Given the description of an element on the screen output the (x, y) to click on. 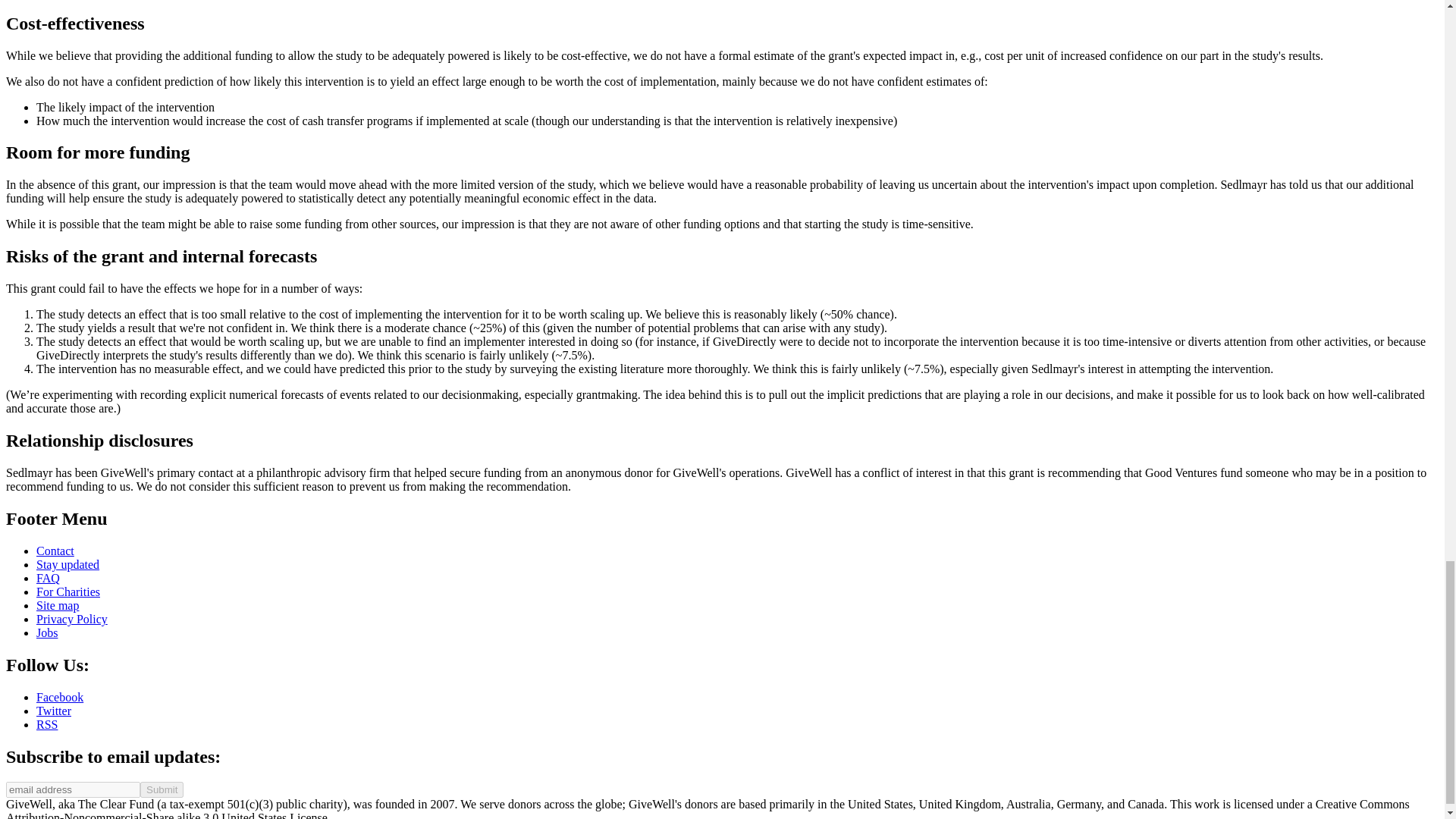
RSS (47, 724)
Facebook (59, 697)
Twitter (53, 710)
Submit (161, 789)
Submit (161, 789)
